Given the description of an element on the screen output the (x, y) to click on. 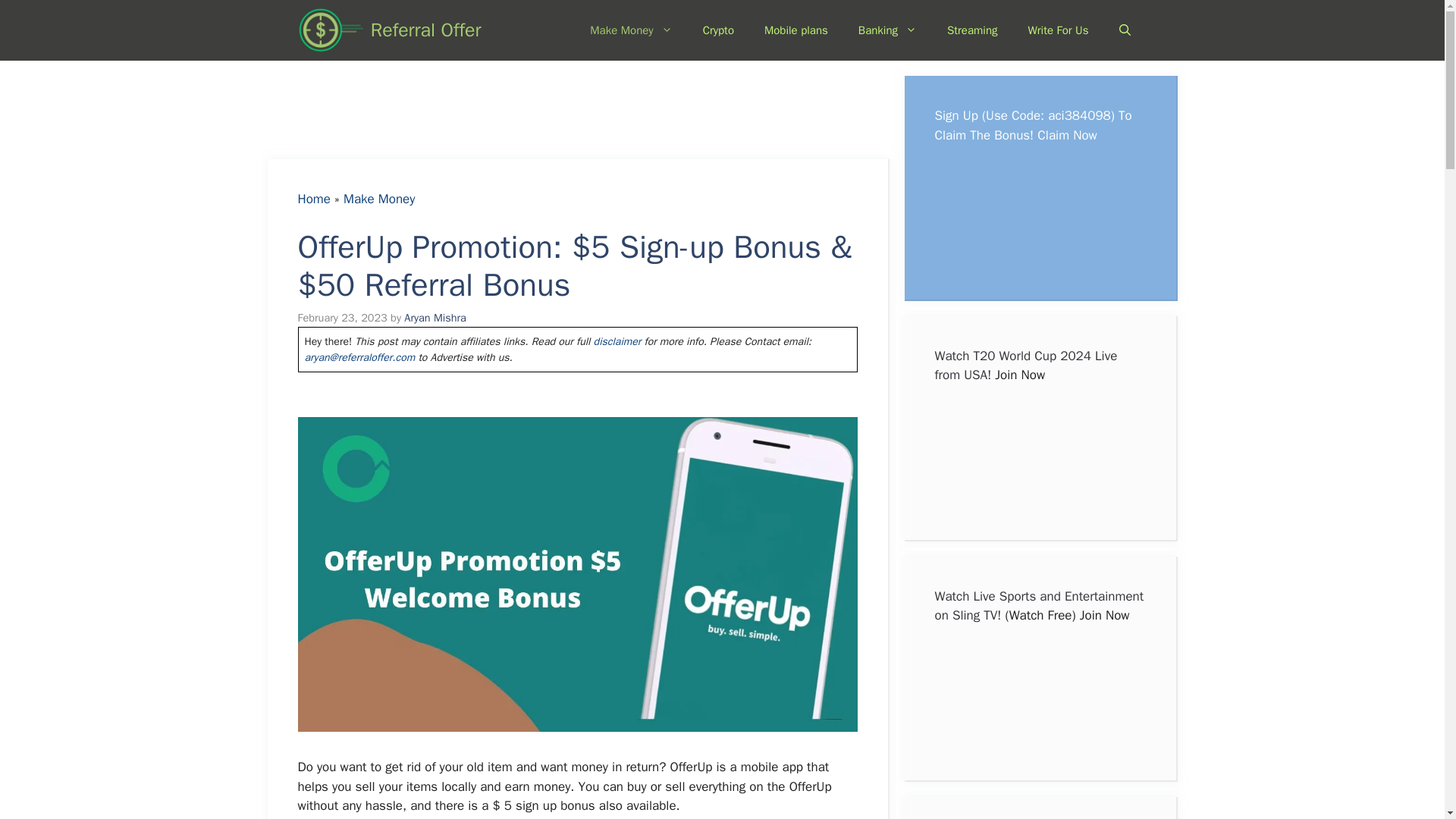
Mobile plans (796, 30)
Referral Offer (426, 30)
Crypto (718, 30)
Aryan Mishra (434, 317)
Home (313, 198)
View all posts by Aryan Mishra (434, 317)
Make Money (631, 30)
Make Money (378, 198)
Write For Us (1058, 30)
Banking (887, 30)
Referral Offer (329, 30)
disclaimer (618, 341)
Streaming (972, 30)
